Given the description of an element on the screen output the (x, y) to click on. 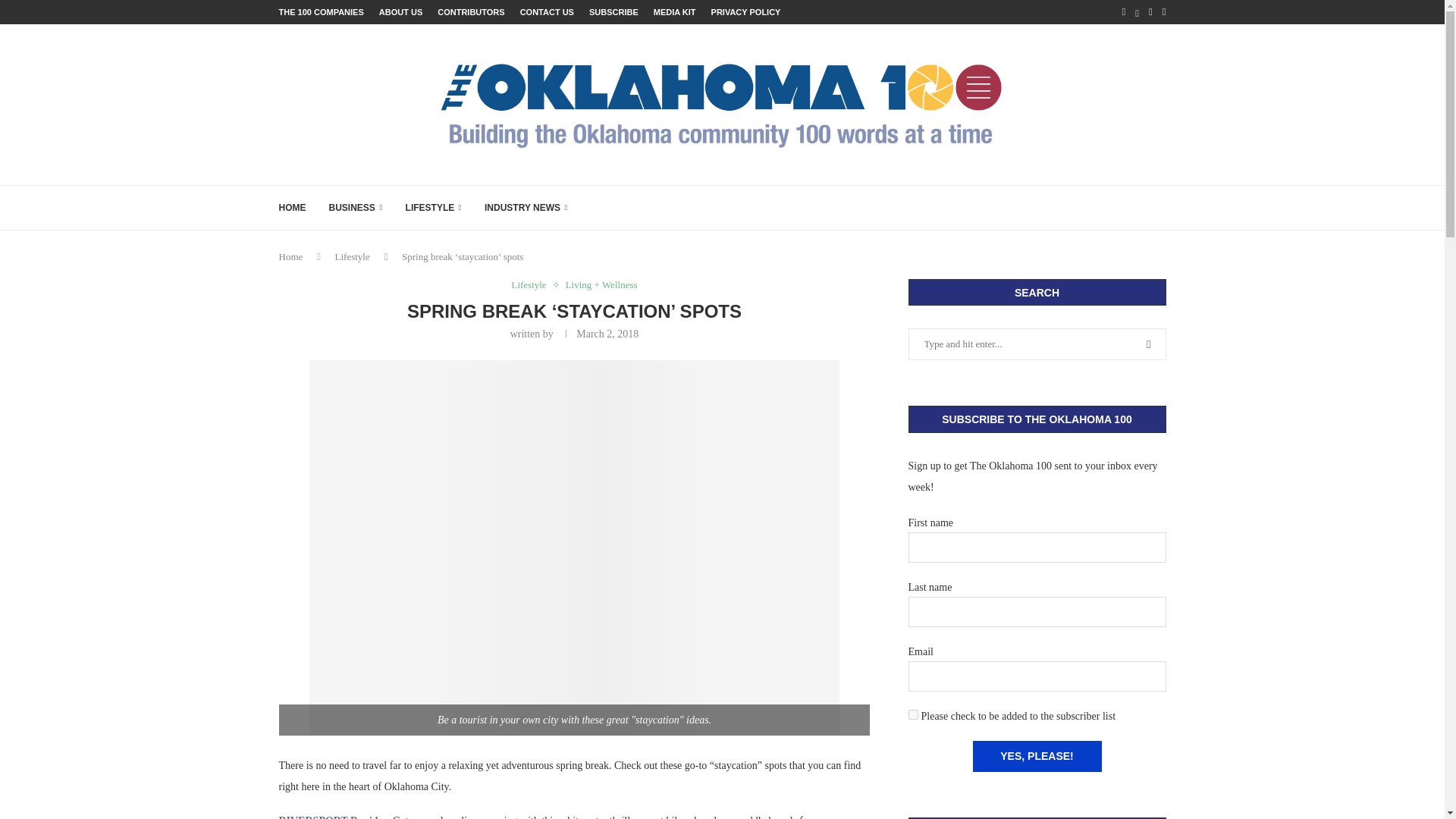
CONTRIBUTORS (470, 12)
CONTACT US (546, 12)
Home (290, 256)
Lifestyle (532, 285)
INDUSTRY NEWS (525, 207)
BUSINESS (355, 207)
ABOUT US (400, 12)
RIVERSPORT Rapids (330, 816)
LIFESTYLE (433, 207)
SUBSCRIBE (614, 12)
